Given the description of an element on the screen output the (x, y) to click on. 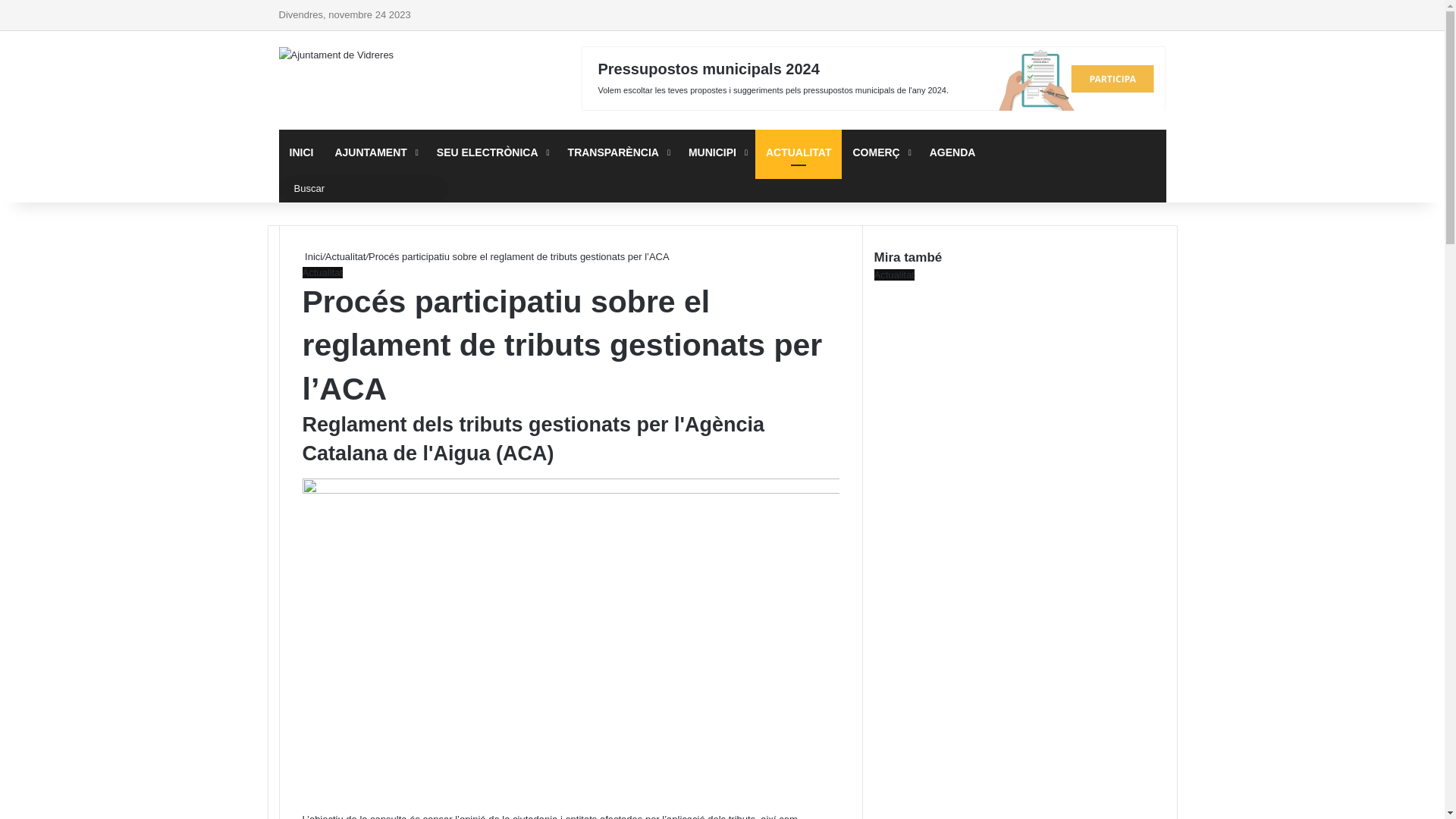
Ajuntament de Vidreres Element type: hover (336, 54)
AJUNTAMENT Element type: text (374, 152)
Inici Element type: text (311, 256)
Actualitat Element type: text (345, 256)
INICI Element type: text (301, 152)
WhatsApp Element type: text (1109, 15)
ACTUALITAT Element type: text (798, 152)
MUNICIPI Element type: text (716, 152)
X Element type: text (1040, 15)
Sidebar Element type: text (1154, 15)
Instagram Element type: text (1086, 15)
Actualitat Element type: text (321, 272)
YouTube Element type: text (1063, 15)
AGENDA Element type: text (952, 152)
Facebook Element type: text (1018, 15)
Buscar Element type: text (432, 188)
Buscar Element type: hover (363, 188)
